Given the description of an element on the screen output the (x, y) to click on. 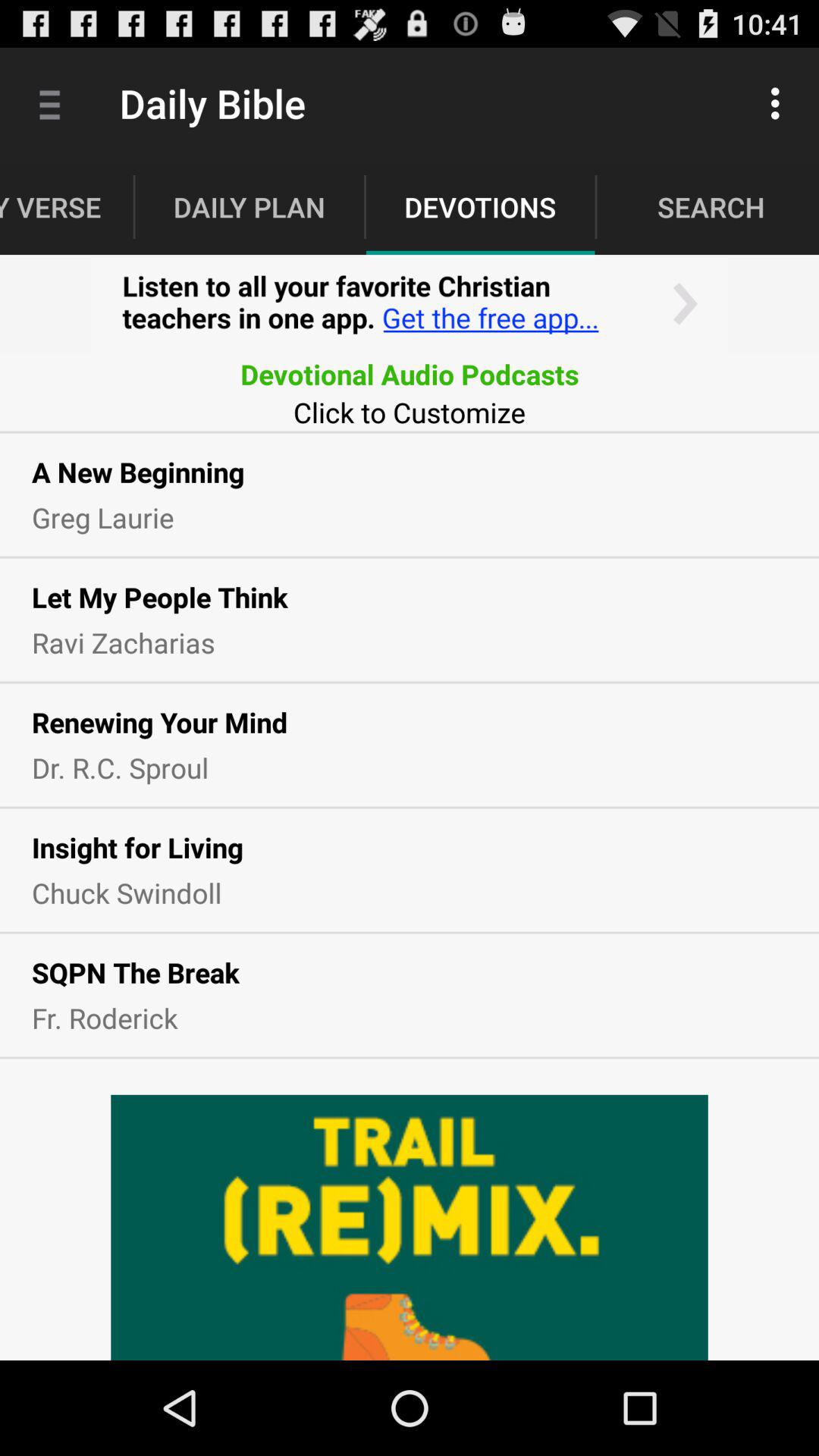
banner advertisement (409, 304)
